Given the description of an element on the screen output the (x, y) to click on. 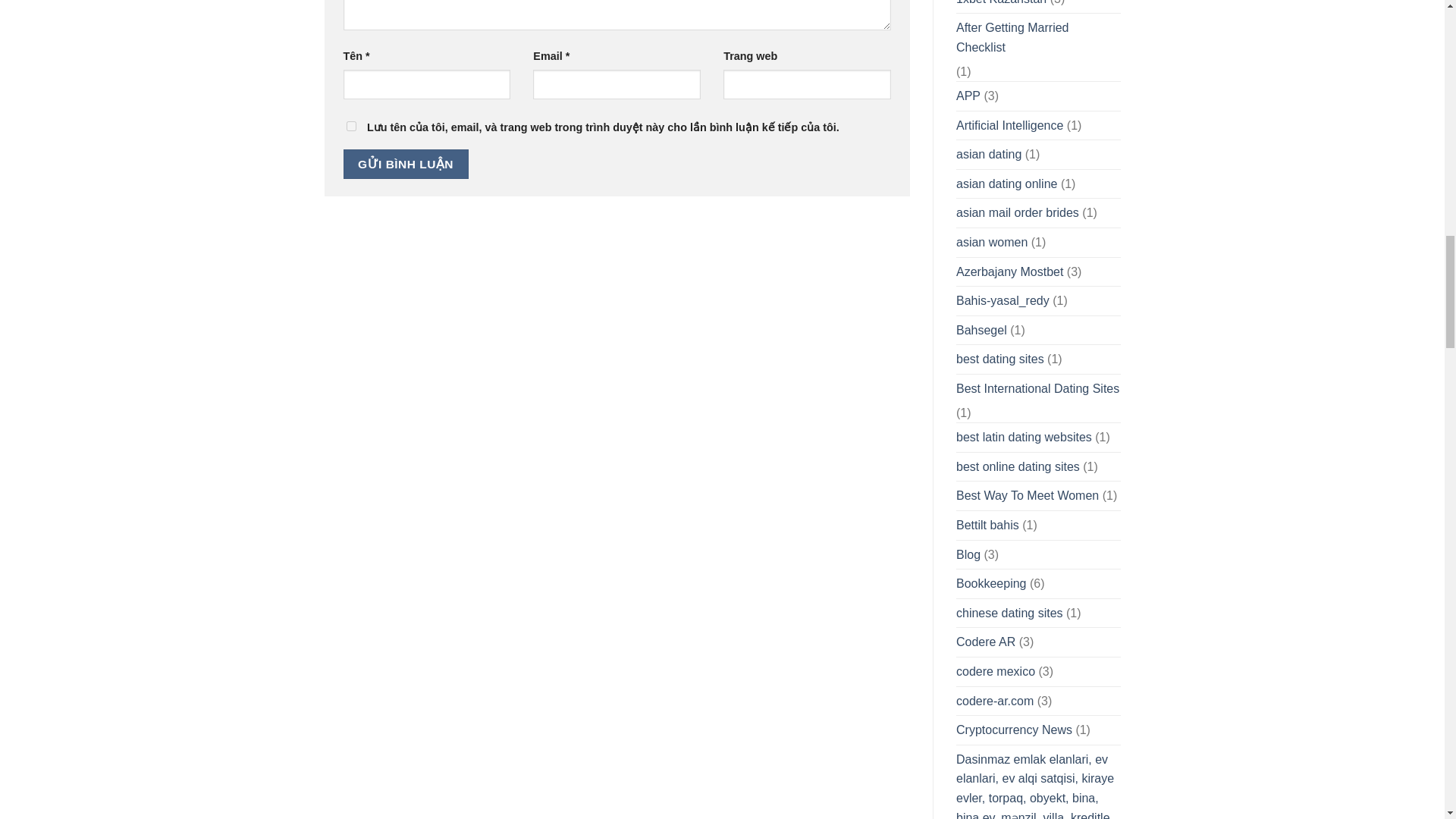
yes (350, 126)
